Given the description of an element on the screen output the (x, y) to click on. 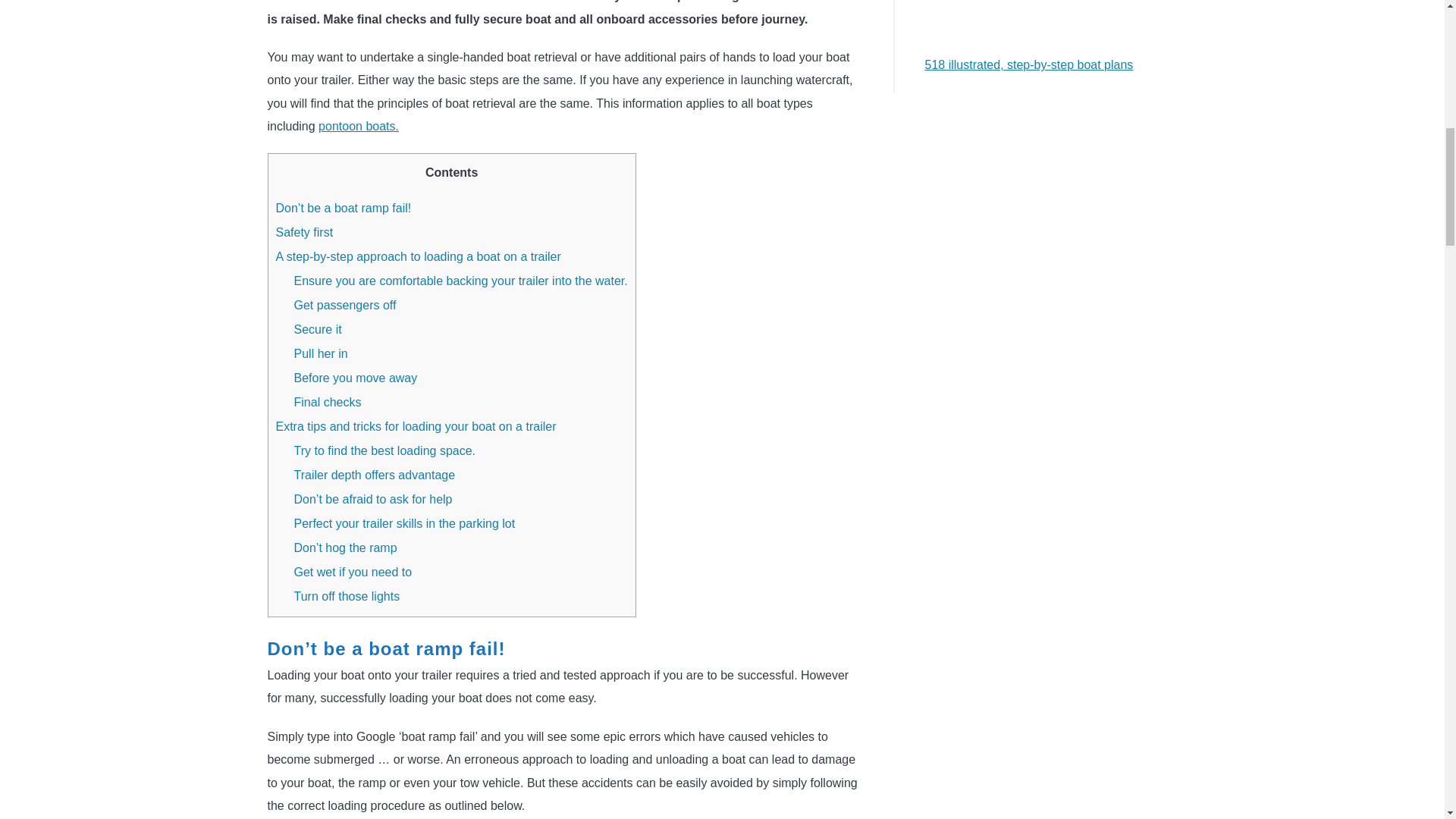
Get wet if you need to (353, 571)
Get passengers off (345, 305)
Final checks (327, 401)
Pull her in (320, 353)
pontoon boats. (358, 125)
Trailer depth offers advantage (374, 474)
Turn off those lights (347, 595)
Perfect your trailer skills in the parking lot (404, 522)
Extra tips and tricks for loading your boat on a trailer (416, 426)
